Given the description of an element on the screen output the (x, y) to click on. 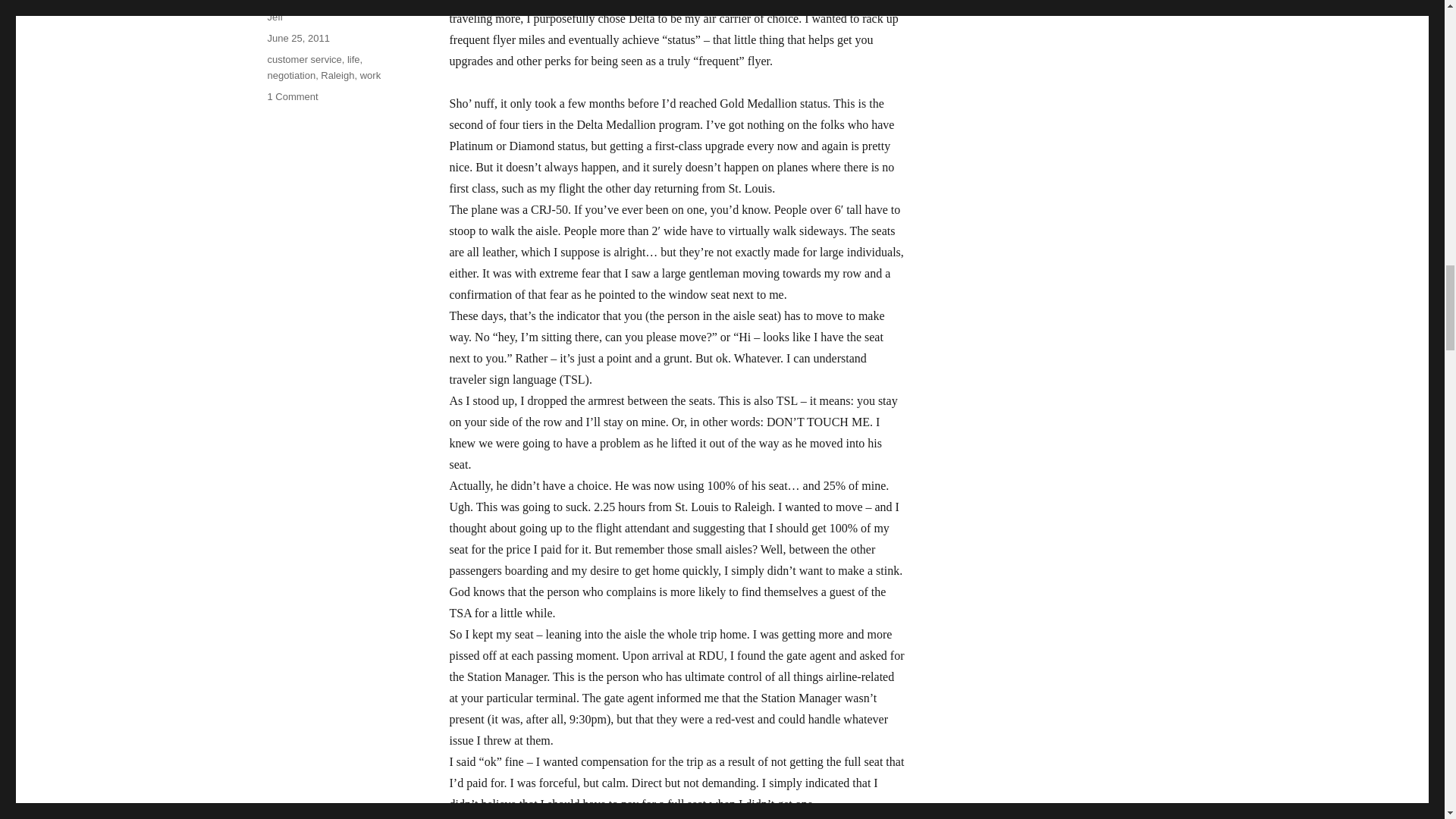
work (369, 75)
Raleigh (336, 75)
negotiation (290, 75)
customer service (303, 59)
Jeff (274, 16)
life (353, 59)
June 25, 2011 (297, 38)
